Given the description of an element on the screen output the (x, y) to click on. 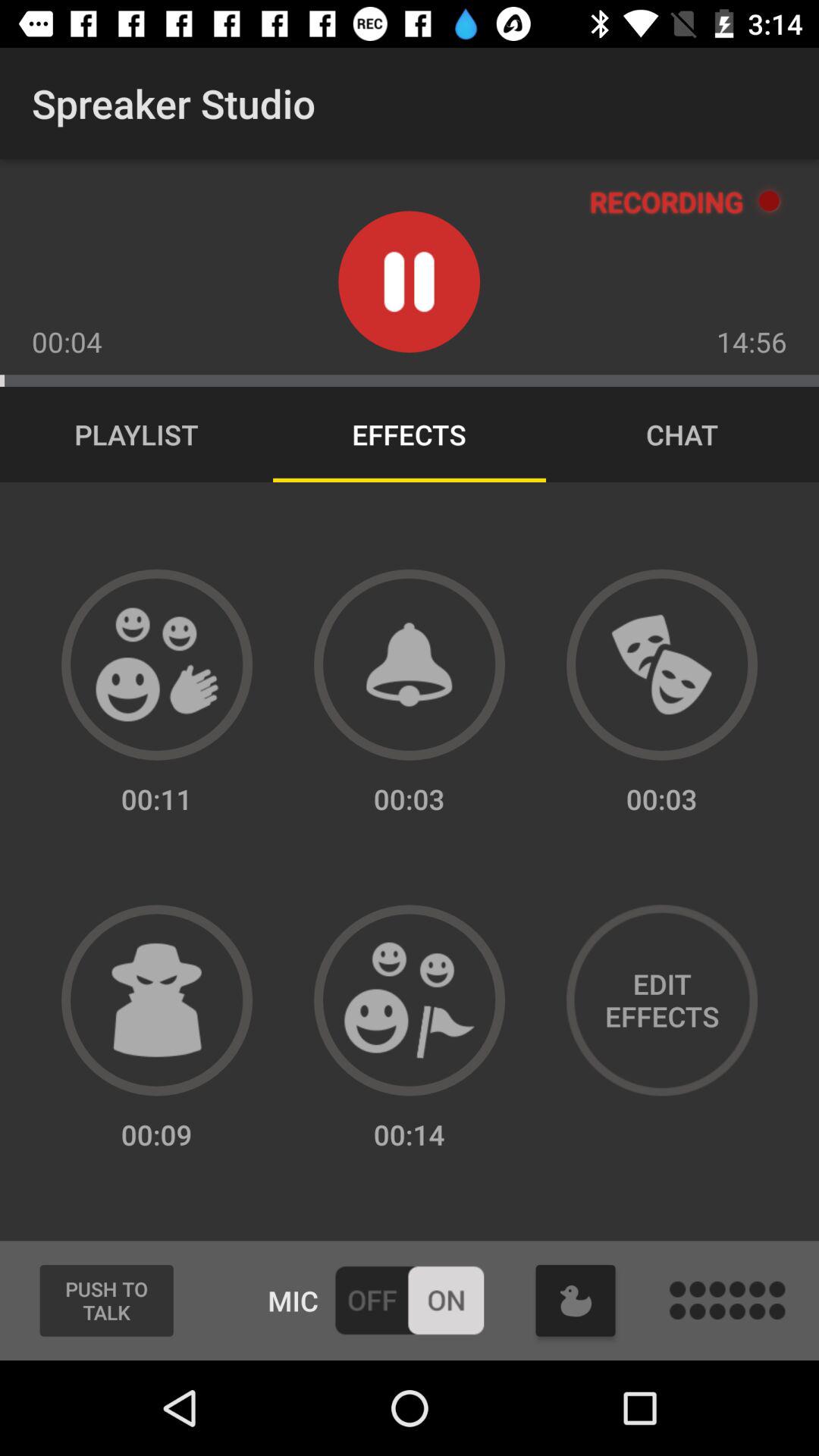
tap notification optiion (409, 664)
